Given the description of an element on the screen output the (x, y) to click on. 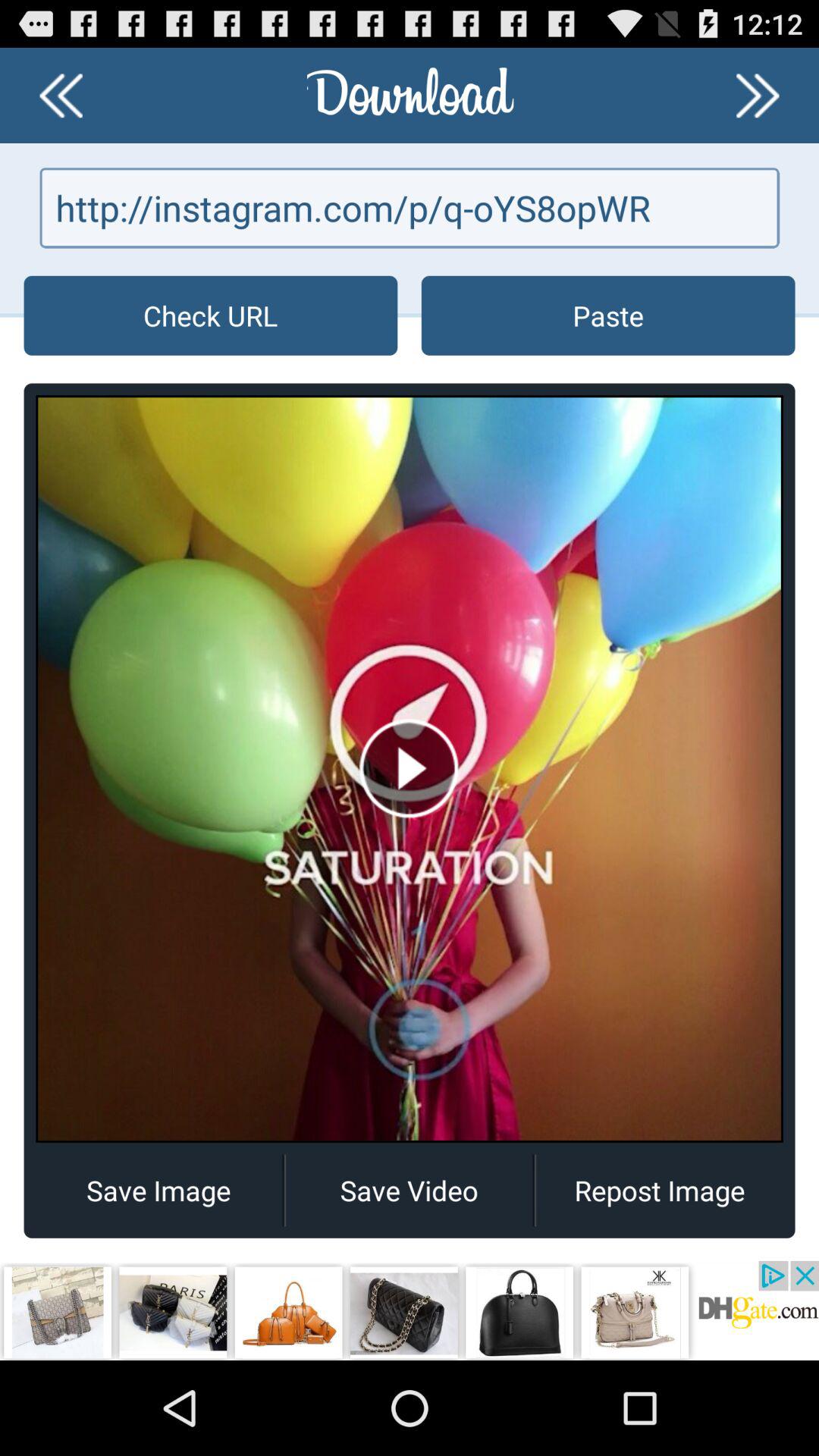
open an advertisement (409, 1310)
